Given the description of an element on the screen output the (x, y) to click on. 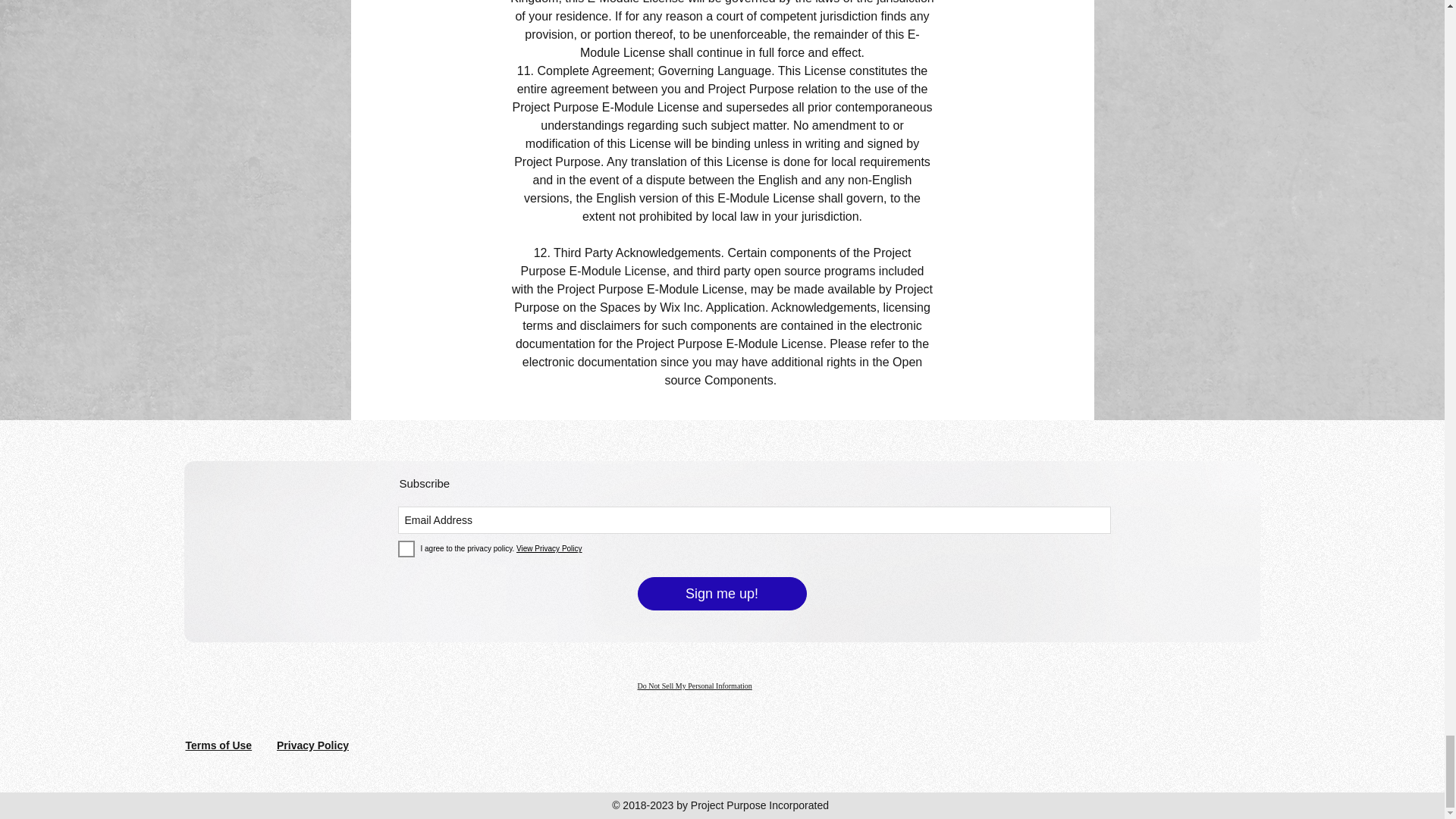
Terms of Use (217, 745)
View Privacy Policy (549, 548)
Do Not Sell My Personal Information (694, 685)
Sign me up! (721, 593)
